Given the description of an element on the screen output the (x, y) to click on. 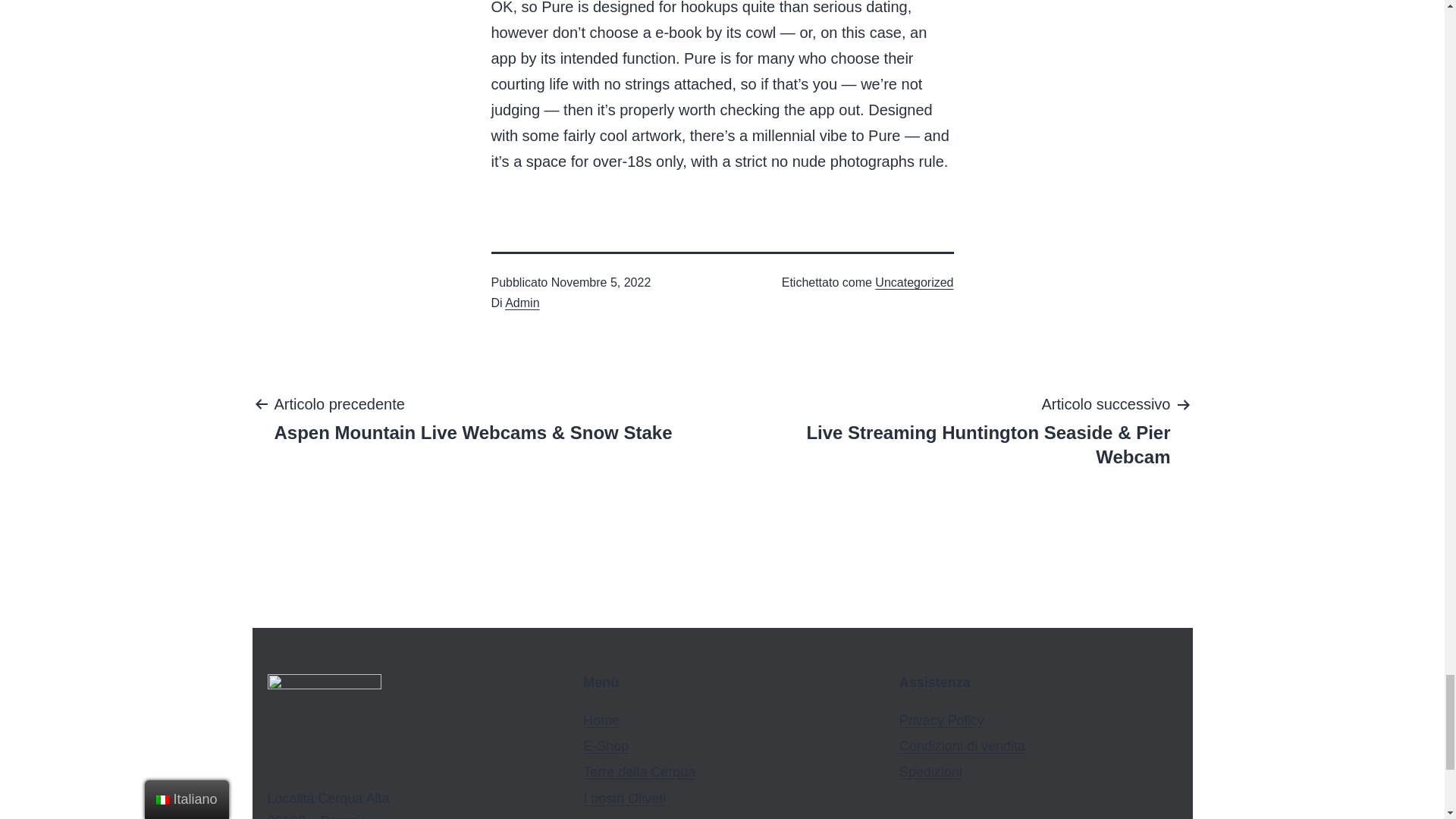
Home (601, 720)
Privacy Policy (941, 720)
Condizioni di vendita (962, 745)
I nostri Oliveti (624, 798)
Contatti (606, 817)
E-Shop (605, 745)
Spedizioni (930, 771)
Terre della Cerqua (639, 771)
Admin (521, 302)
Uncategorized (914, 282)
